Given the description of an element on the screen output the (x, y) to click on. 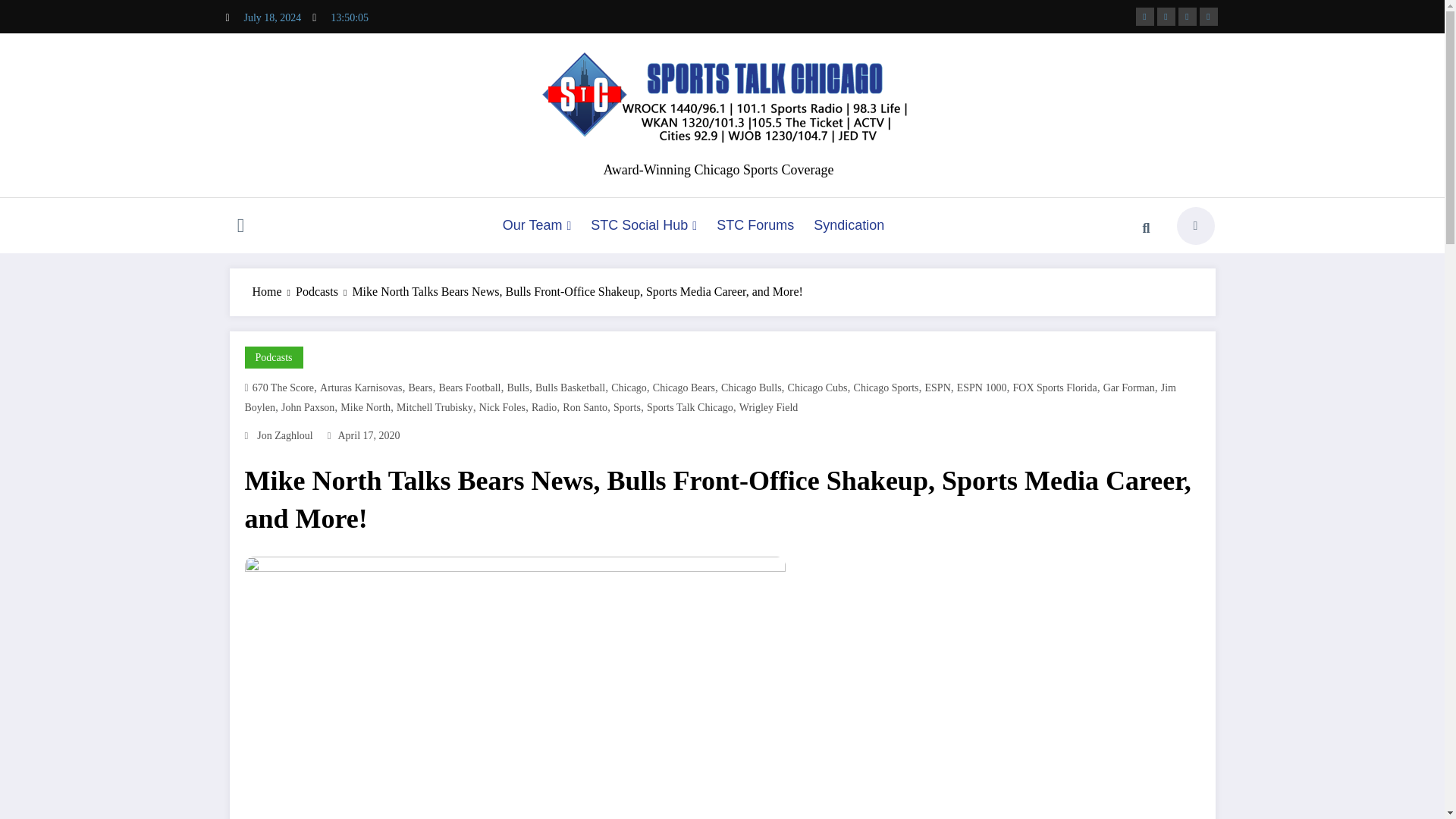
STC Social Hub (643, 225)
date-time (368, 435)
facebook-f (1144, 16)
Search (1145, 228)
Posts by Jon Zaghloul (285, 435)
fa-brands fa-x-twitter (1165, 16)
youtube (1208, 16)
Syndication (848, 225)
Toggle Icon (239, 227)
Our Team (536, 225)
Podcasts (273, 357)
STC Forums (754, 225)
instagram (1186, 16)
